Given the description of an element on the screen output the (x, y) to click on. 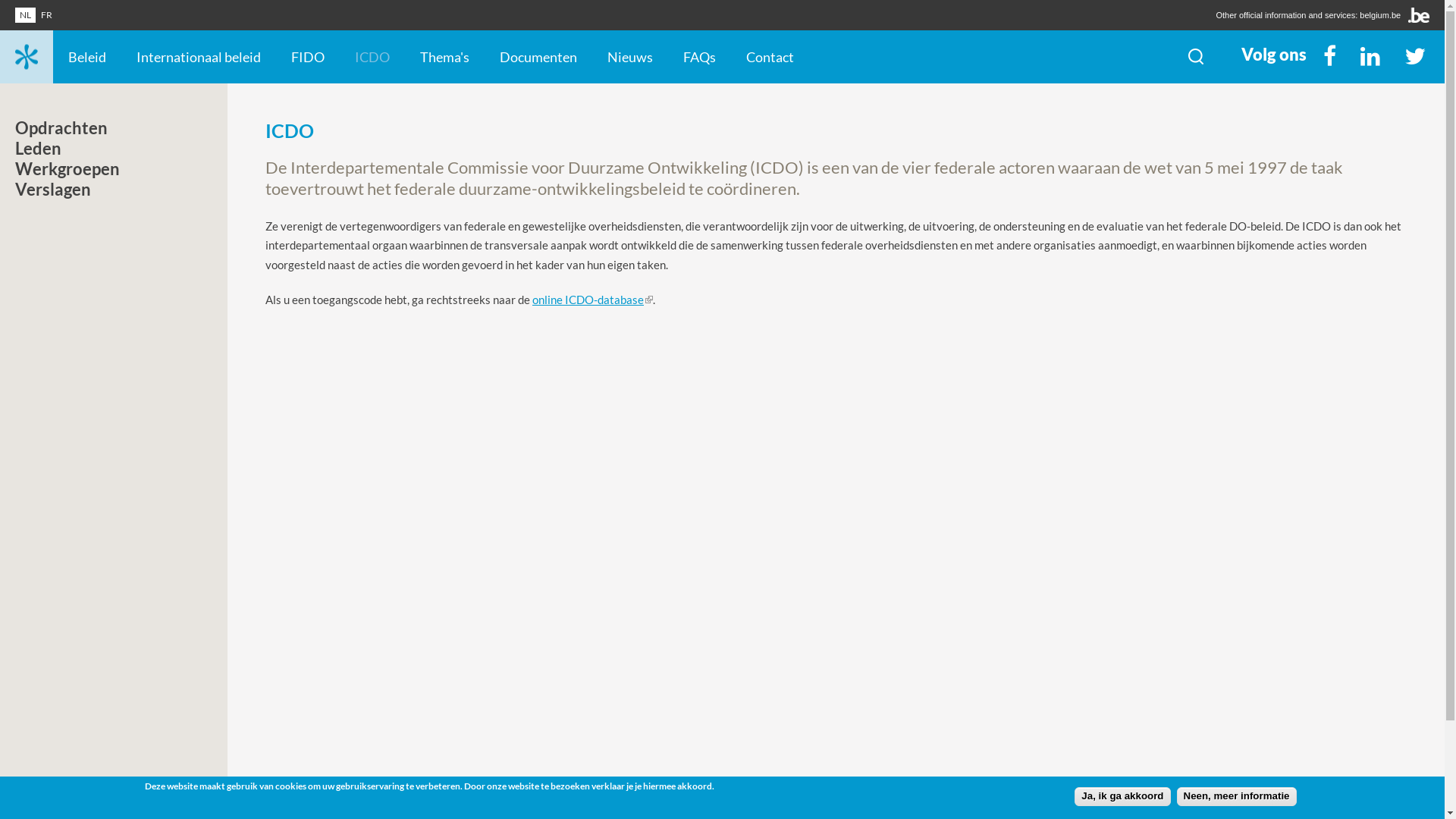
FR Element type: text (46, 14)
Internationaal beleid Element type: text (198, 56)
Werkgroepen Element type: text (71, 172)
Beleid Element type: text (87, 56)
Opdrachten Element type: text (65, 131)
FAQs Element type: text (699, 56)
Thema's Element type: text (444, 56)
Skip to main content Element type: text (19, 27)
back to homepage Element type: hover (26, 56)
Nieuws Element type: text (630, 56)
Ja, ik ga akkoord Element type: text (1122, 795)
FIDO Element type: text (307, 56)
Contact Element type: text (770, 56)
Leden Element type: text (42, 152)
online ICDO-database
(link is external) Element type: text (592, 299)
Verslagen Element type: text (56, 192)
NL Element type: text (25, 14)
SEARCH Element type: text (1195, 56)
belgium.be Element type: text (1379, 14)
Neen, meer informatie Element type: text (1236, 795)
Documenten Element type: text (538, 56)
ICDO Element type: text (371, 56)
